Given the description of an element on the screen output the (x, y) to click on. 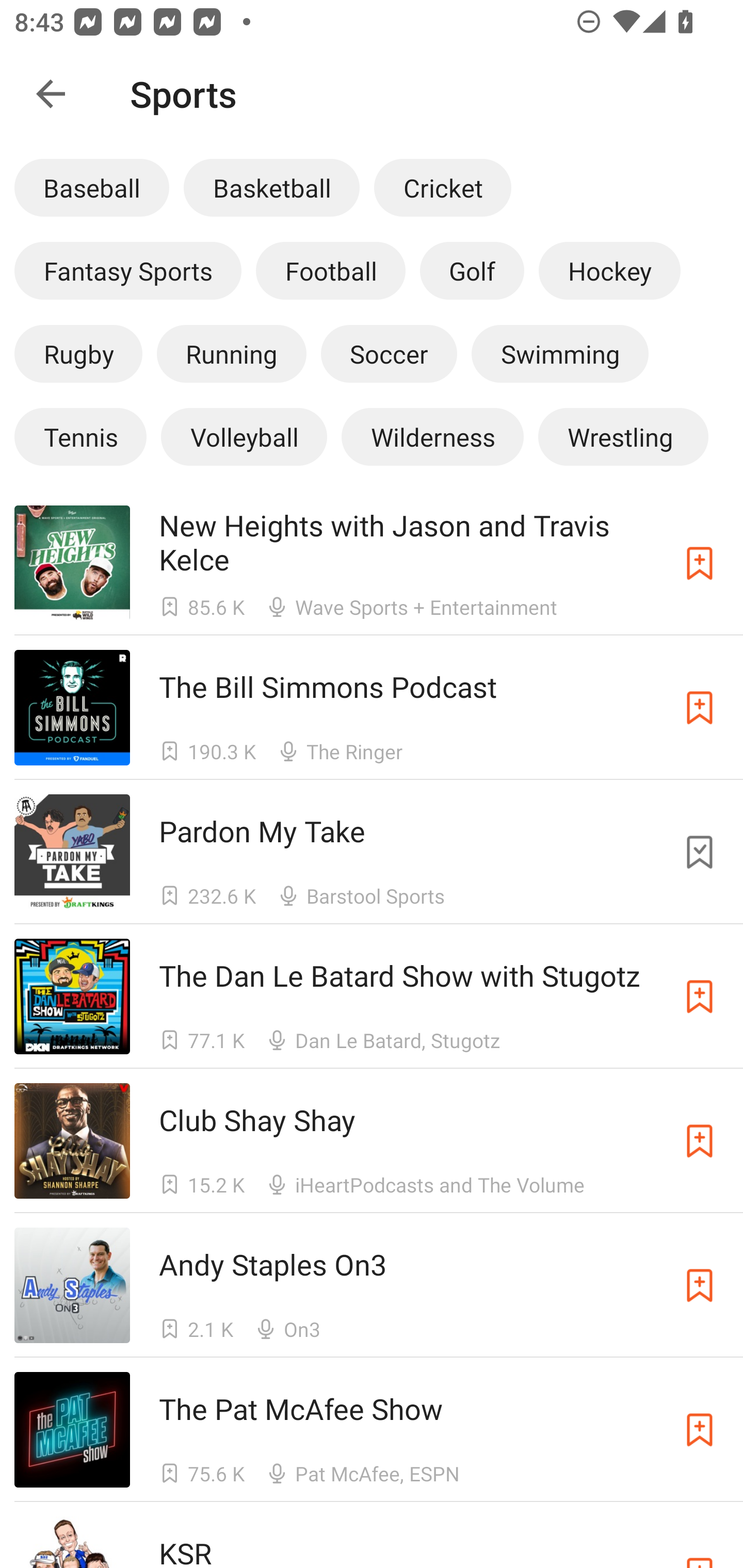
Navigate up (50, 93)
Baseball (91, 187)
Basketball (271, 187)
Cricket (442, 187)
Fantasy Sports (127, 270)
Football (330, 270)
Golf (471, 270)
Hockey (609, 270)
Rugby (78, 353)
Running (231, 353)
Soccer (388, 353)
Swimming (559, 353)
Tennis (80, 436)
Volleyball (243, 436)
Wilderness (432, 436)
Wrestling  (622, 436)
Subscribe (699, 562)
Subscribe (699, 707)
Unsubscribe (699, 851)
Subscribe (699, 996)
Subscribe (699, 1140)
Subscribe (699, 1285)
Subscribe (699, 1430)
